Given the description of an element on the screen output the (x, y) to click on. 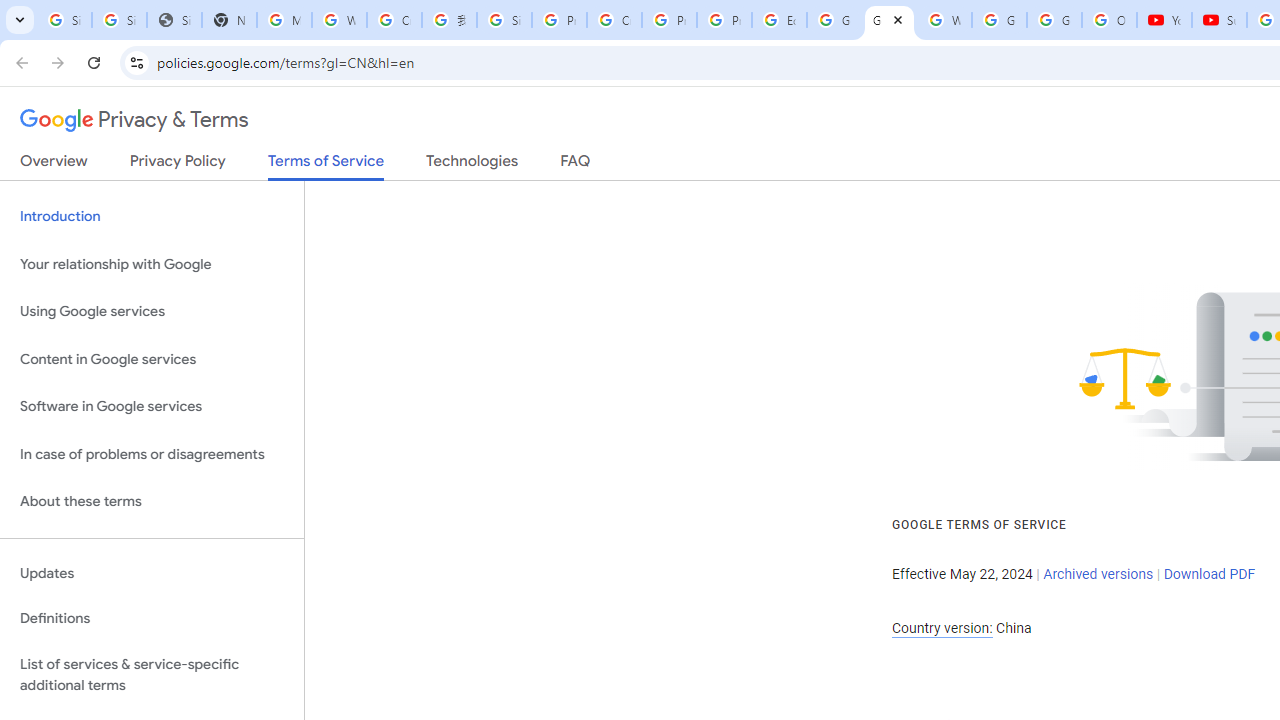
Archived versions (1098, 574)
Definitions (152, 619)
Who is my administrator? - Google Account Help (339, 20)
Country version: (942, 628)
